Given the description of an element on the screen output the (x, y) to click on. 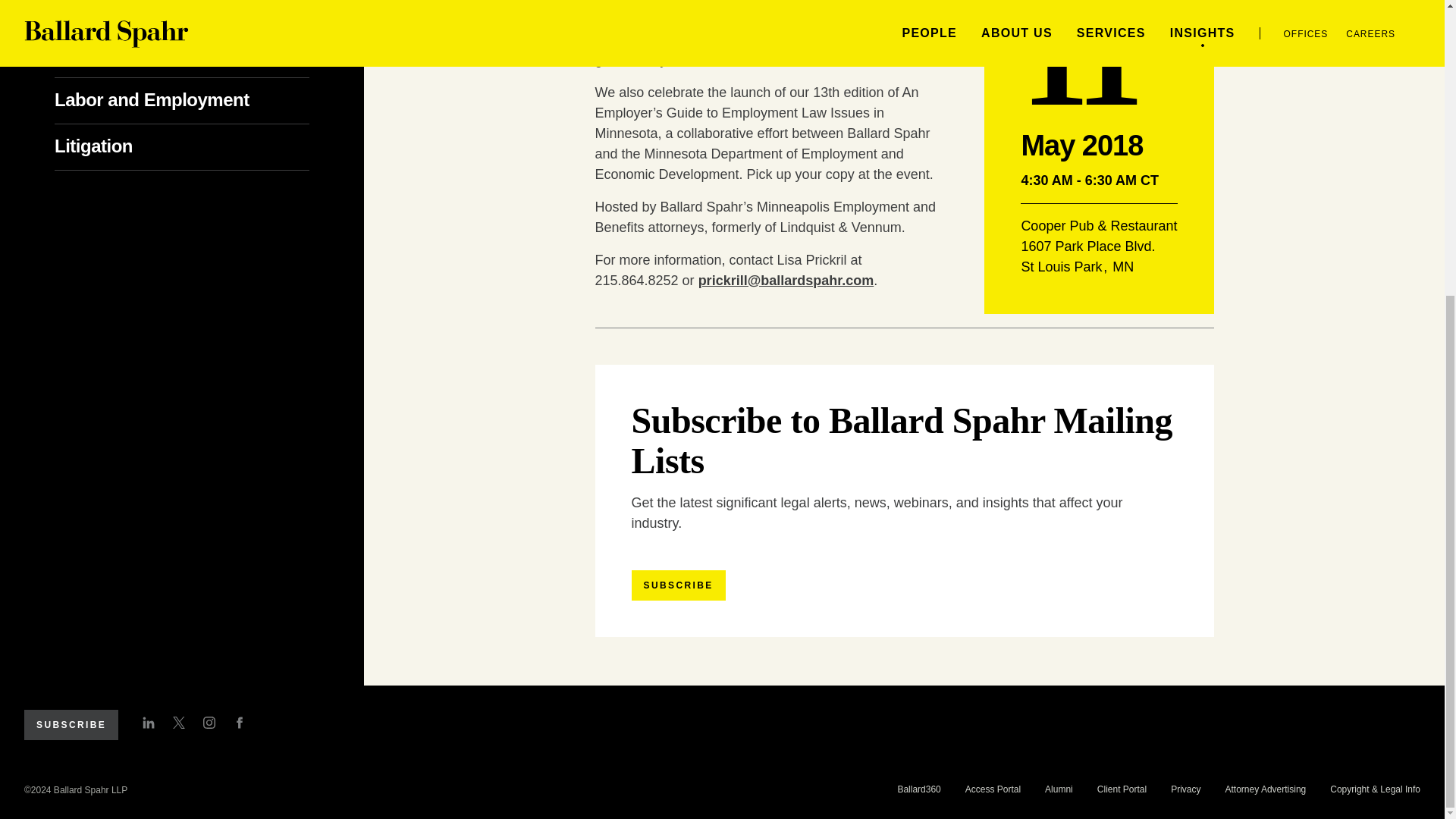
Employee Benefits and Executive Compensation (151, 31)
Client Portal (1122, 788)
Access Portal (992, 788)
Litigation (119, 145)
Alumni (1059, 788)
Labor and Employment (177, 99)
Ballard360 (918, 788)
Privacy (1184, 788)
Attorney Advertising (1265, 788)
SUBSCRIBE (70, 725)
